Given the description of an element on the screen output the (x, y) to click on. 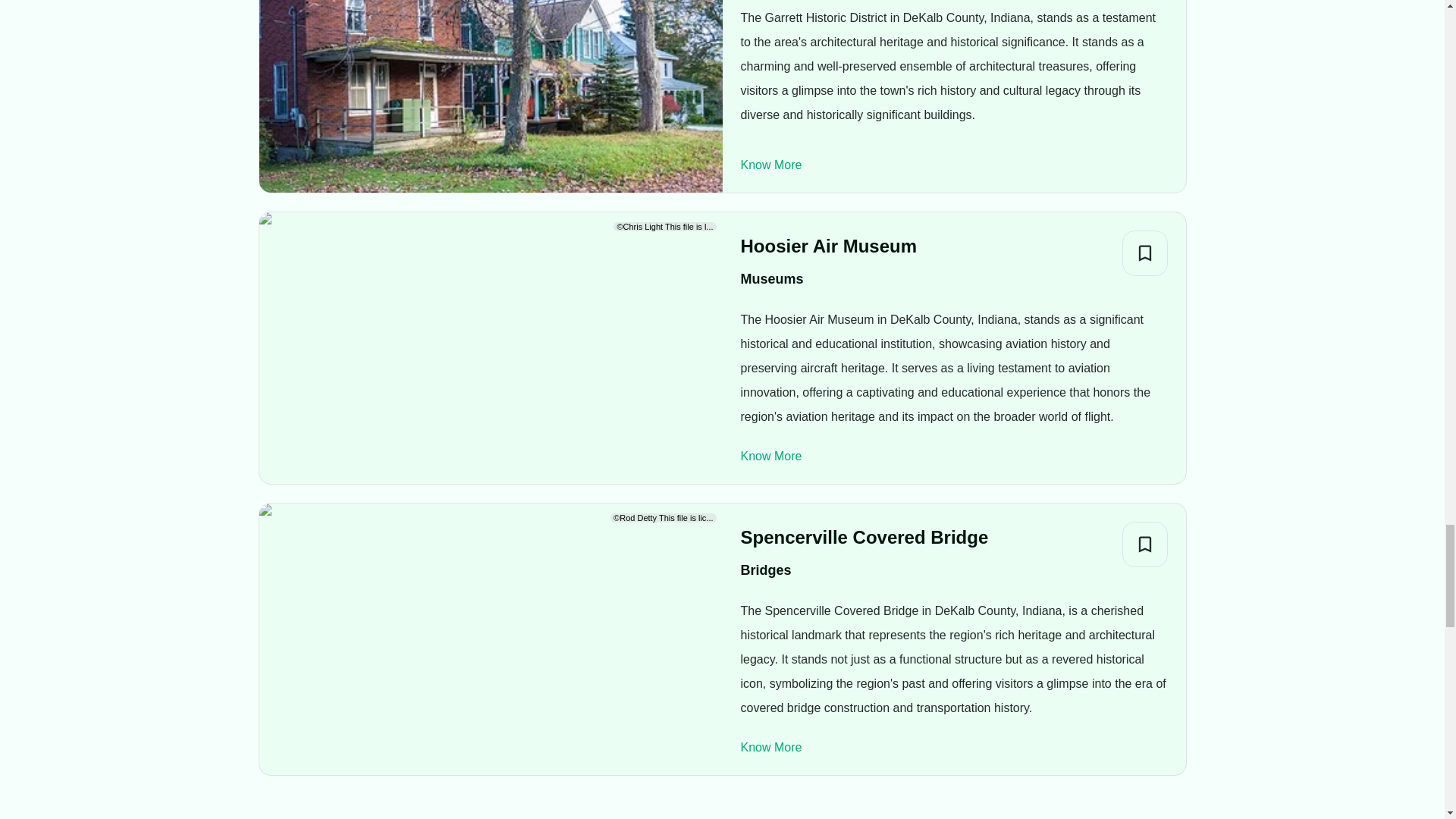
Add to Bucket List (1144, 253)
Add to Bucket List (1144, 544)
